Given the description of an element on the screen output the (x, y) to click on. 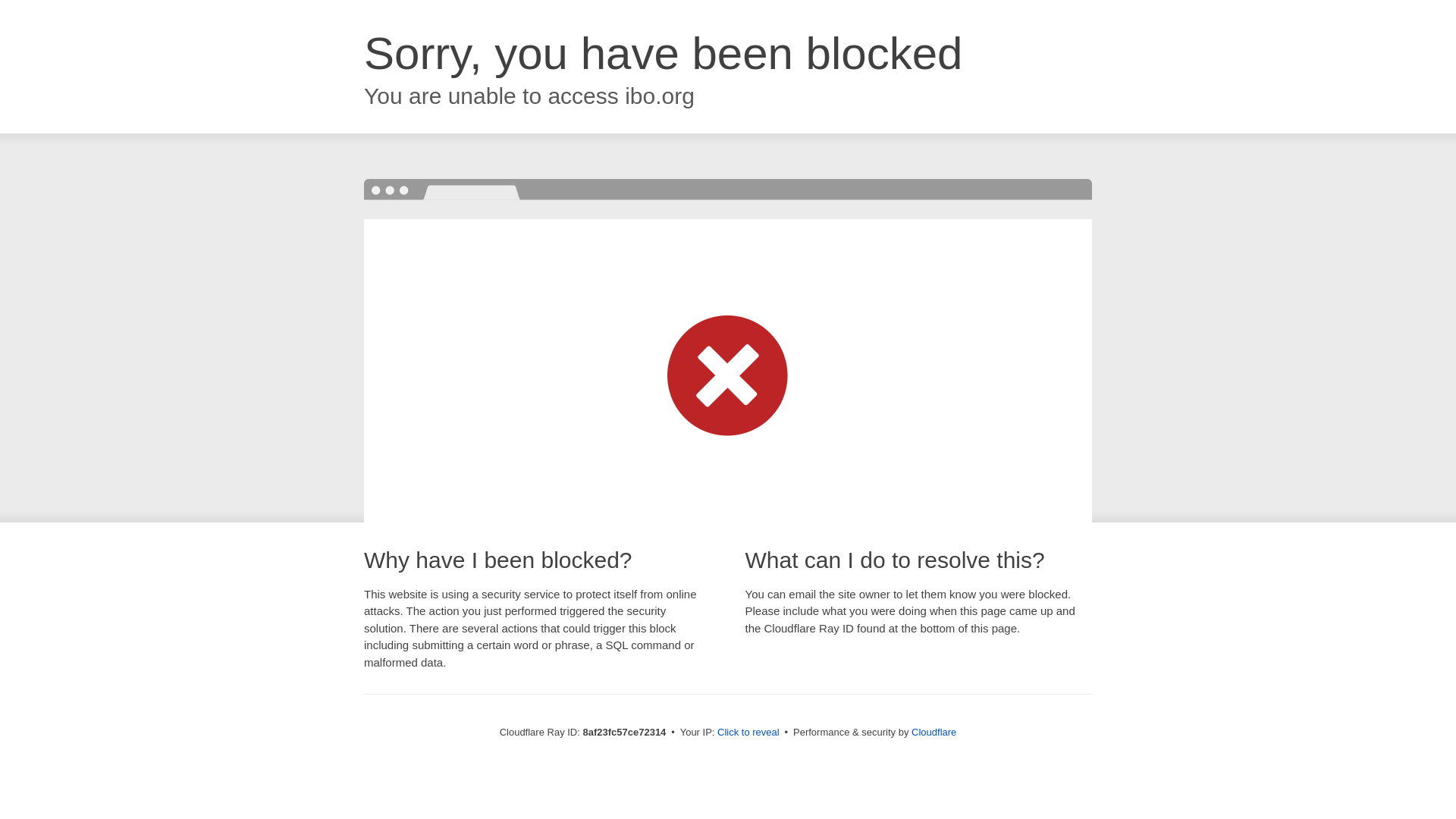
Click to reveal (747, 732)
Cloudflare (933, 731)
